Given the description of an element on the screen output the (x, y) to click on. 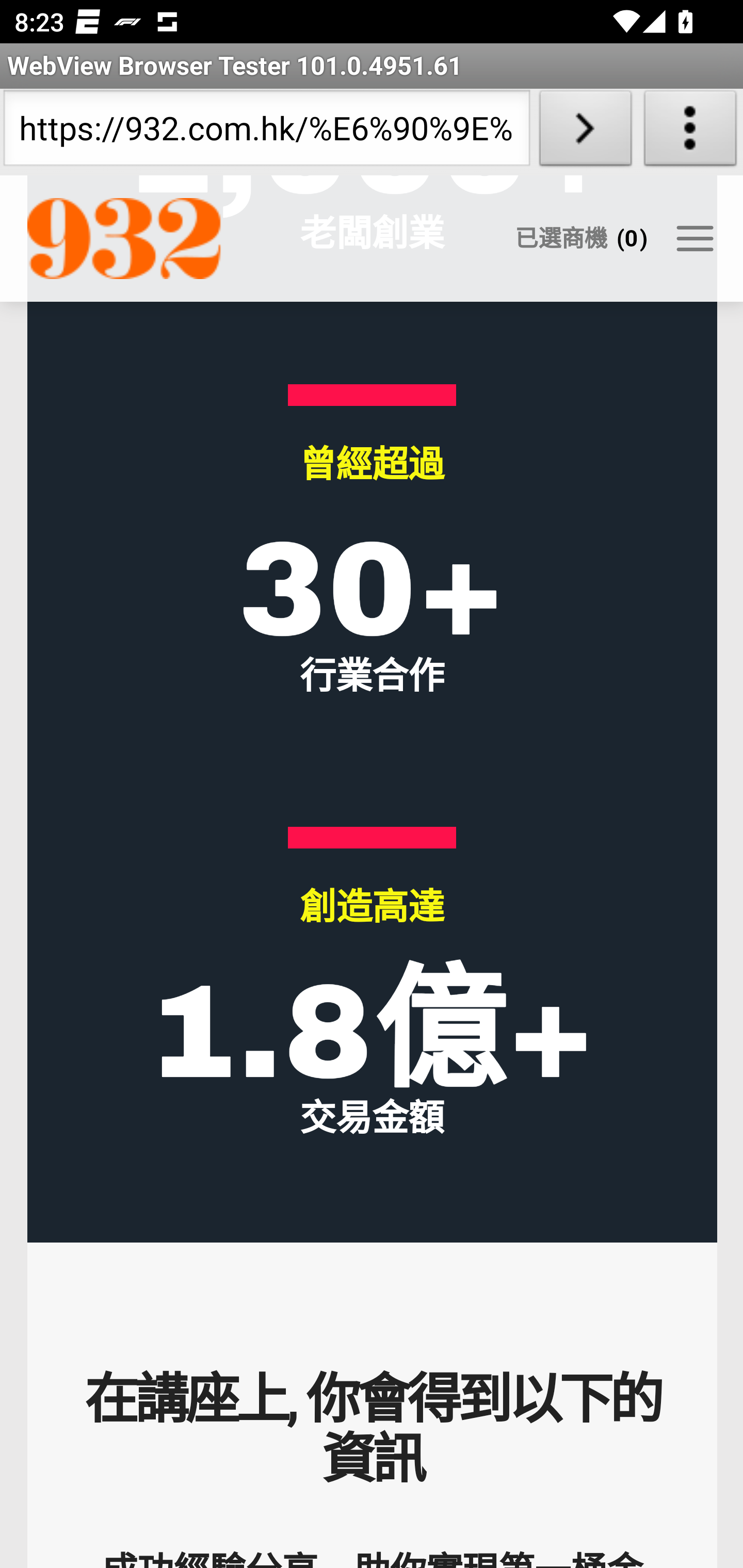
Load URL (585, 132)
About WebView (690, 132)
